Given the description of an element on the screen output the (x, y) to click on. 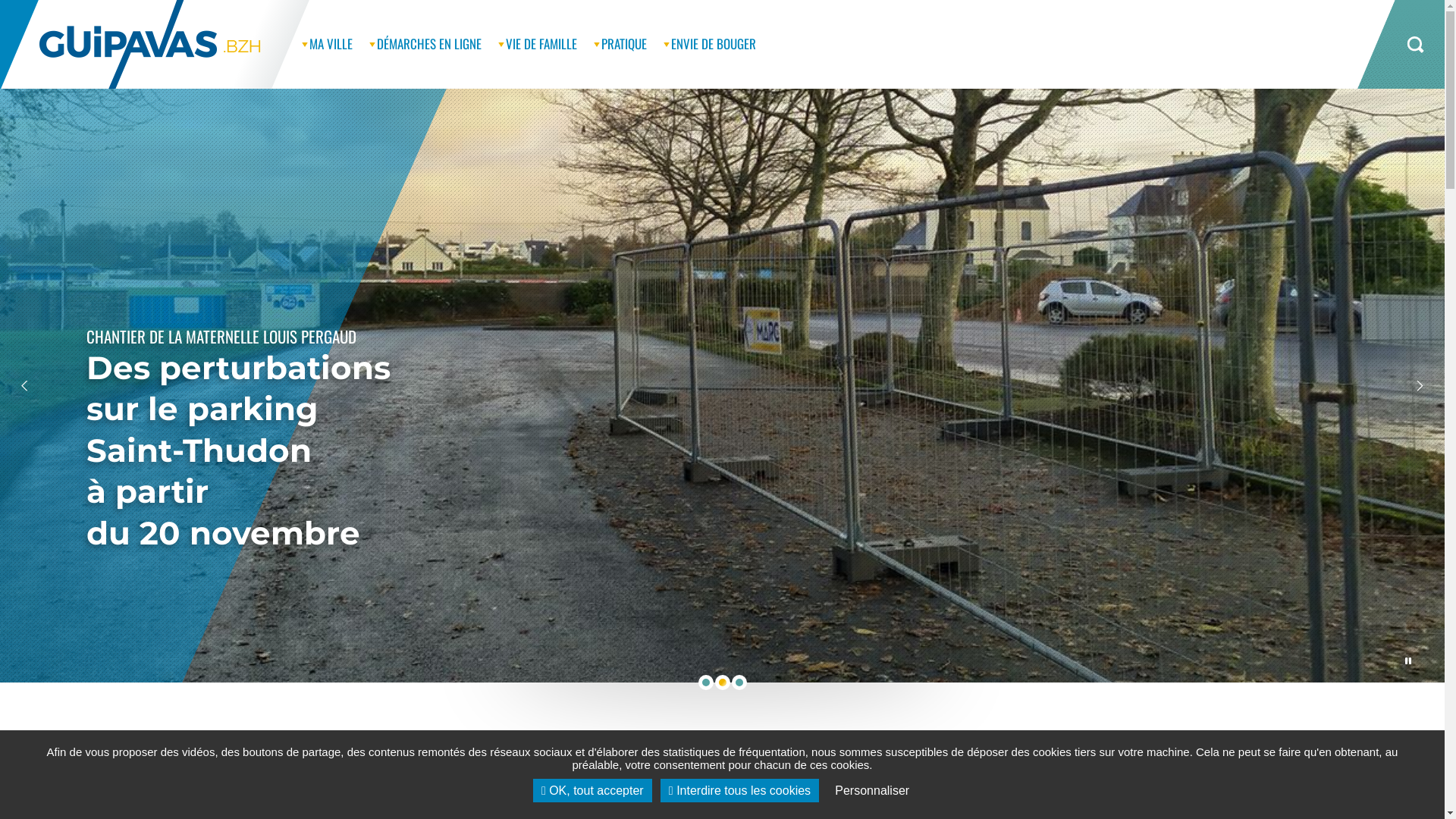
PRATIQUE Element type: text (623, 43)
Personnaliser Element type: text (871, 790)
Interdire tous les cookies Element type: text (739, 790)
undefined - Slide active Element type: hover (721, 682)
RECHERCHER Element type: text (1402, 44)
OK, tout accepter Element type: text (592, 790)
VIE DE FAMILLE Element type: text (541, 43)
ENVIE DE BOUGER Element type: text (713, 43)
MA VILLE Element type: text (331, 43)
